Given the description of an element on the screen output the (x, y) to click on. 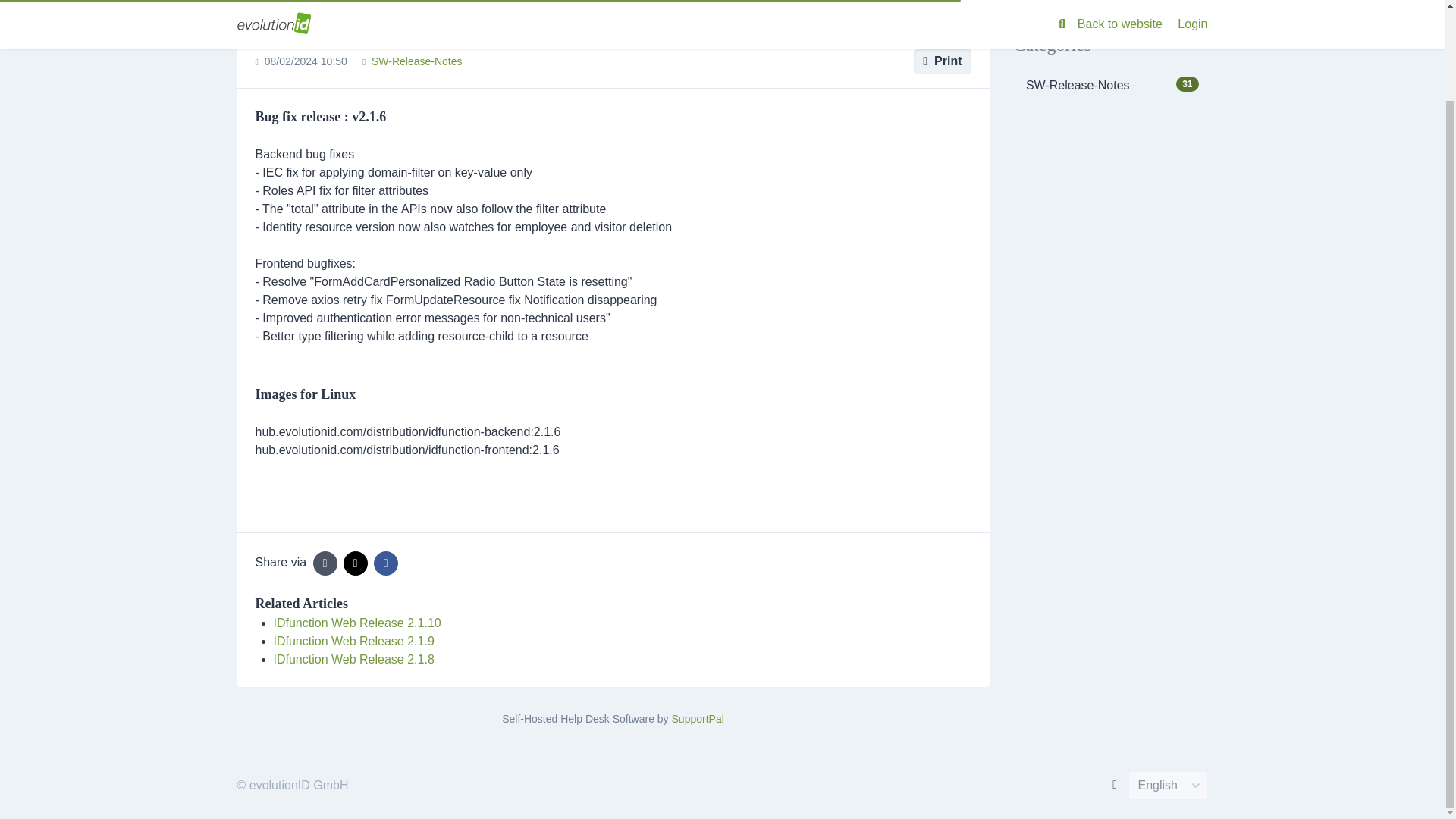
Support Portal (269, 6)
IDfunction Web Release 2.1.8 (353, 658)
Announcements (1110, 85)
IDfunction Web Release 2.1.9 (359, 6)
  Print (353, 640)
SW-Release-Notes (942, 61)
IDfunction Web Release 2.1.10 (417, 61)
SupportPal (357, 622)
